Given the description of an element on the screen output the (x, y) to click on. 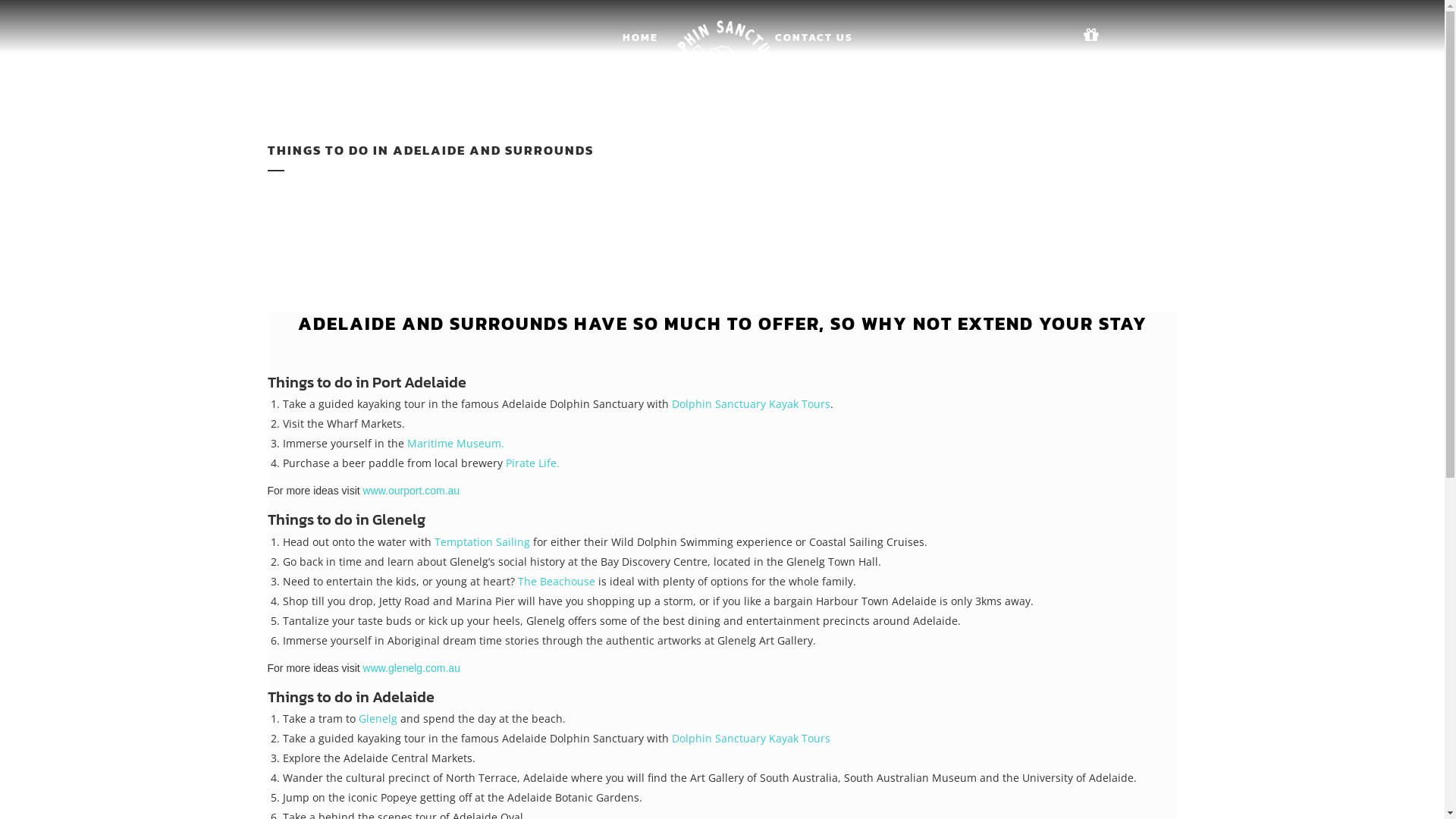
www.glenelg.com.au Element type: text (411, 668)
CONTACT US Element type: text (813, 37)
Dolphin Sanctuary Kayak Tours Element type: text (750, 403)
www.ourport.com.au Element type: text (411, 490)
Dolphin Sanctuary Kayak Tours Element type: text (750, 738)
GIFT VOUCHERS AVAILABLE Element type: text (1117, 76)
The Beachouse Element type: text (555, 581)
Glenelg Element type: text (376, 718)
Maritime Museum Element type: text (453, 443)
Pirate Life Element type: text (530, 462)
Temptation Sailing Element type: text (481, 541)
HOME Element type: text (640, 37)
